Given the description of an element on the screen output the (x, y) to click on. 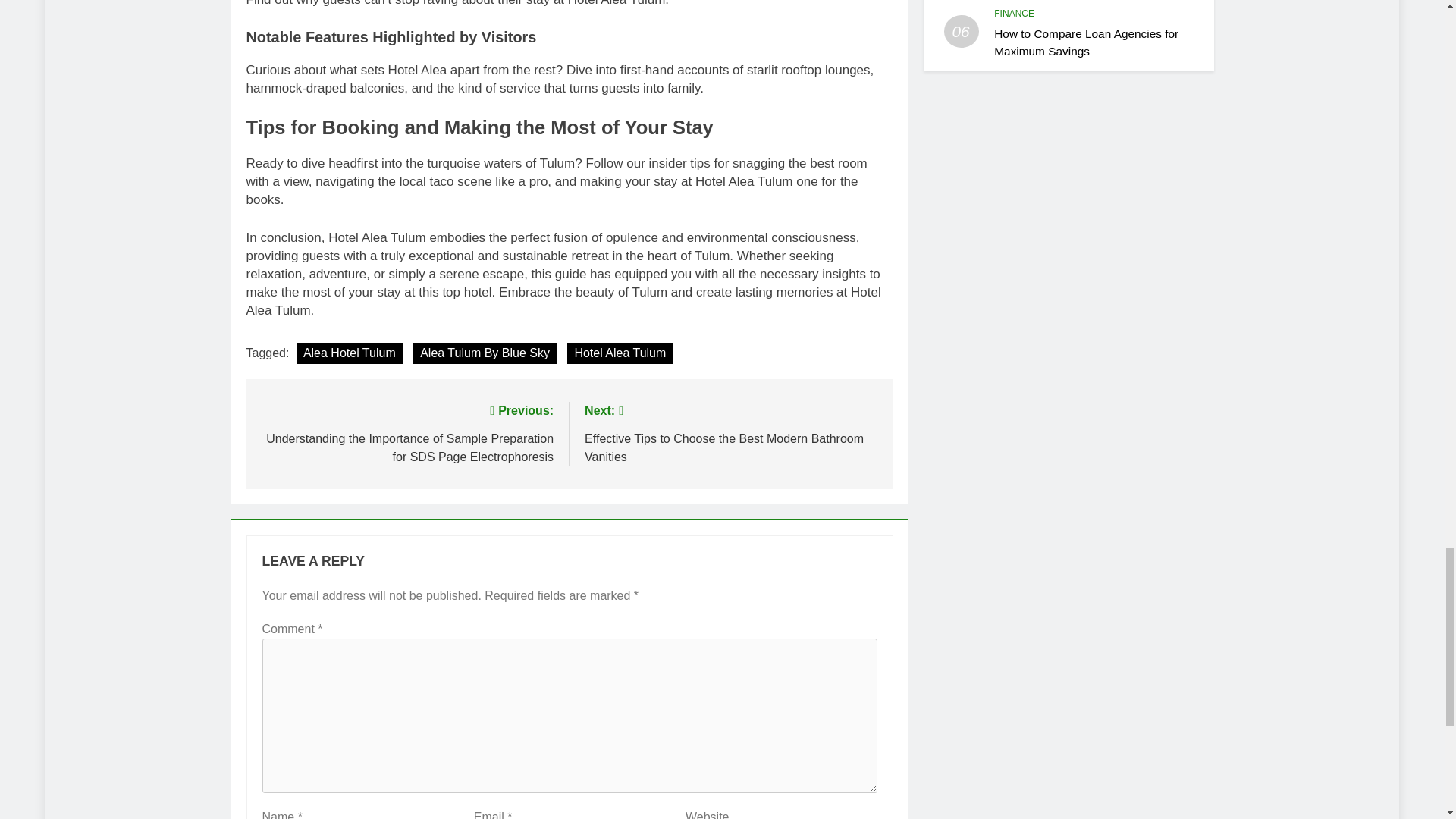
Alea Tulum By Blue Sky (484, 353)
Hotel Alea Tulum (619, 353)
Alea Hotel Tulum (350, 353)
